Given the description of an element on the screen output the (x, y) to click on. 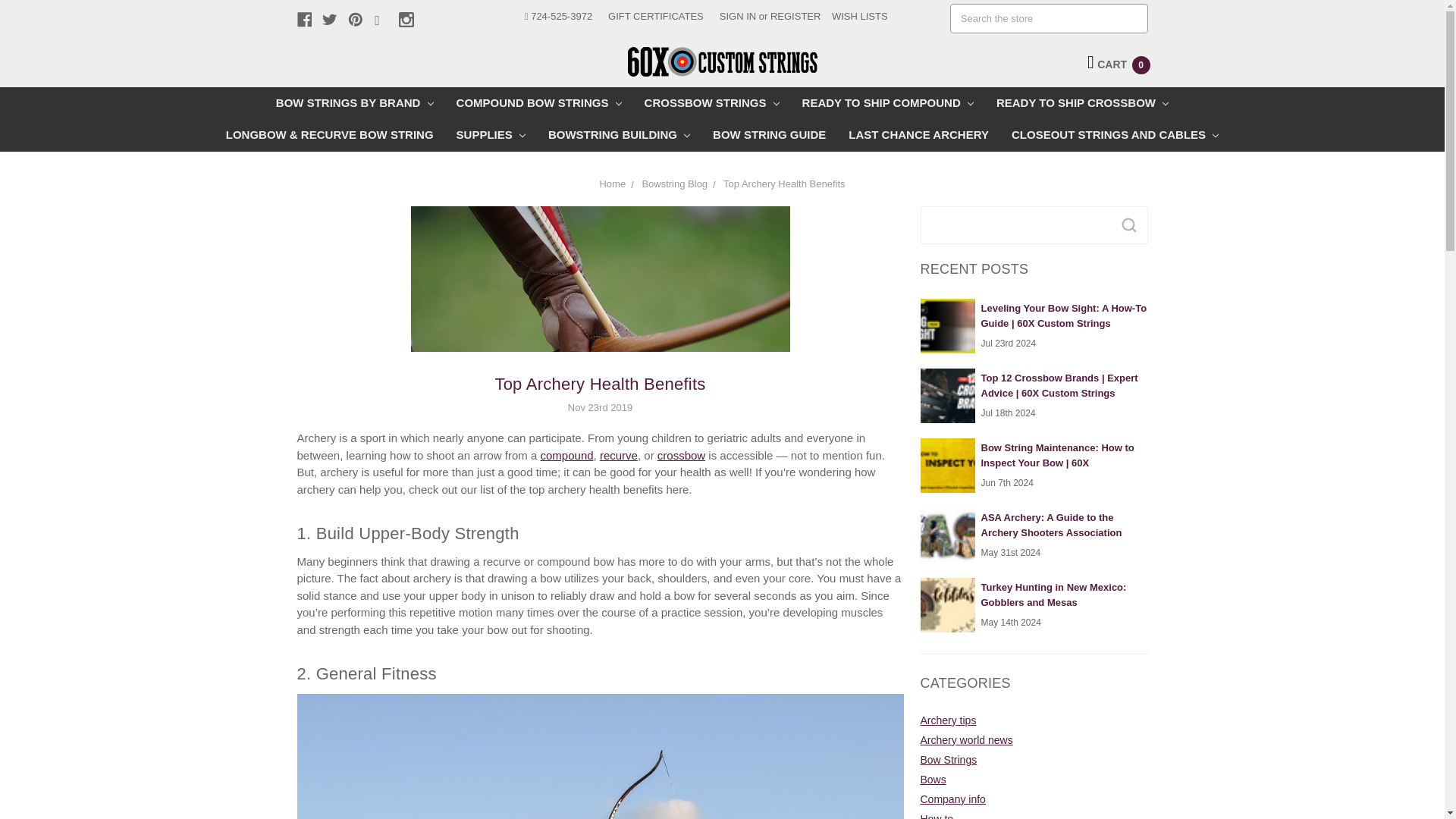
CART 0 (1118, 63)
724-525-3972 (557, 16)
60X Custom Strings (721, 61)
Search (1128, 225)
BOW STRINGS BY BRAND (354, 102)
REGISTER (795, 16)
ASA Archery: A Guide to the Archery Shooters Association (947, 534)
SIGN IN (736, 16)
Top Archery Health Benefits (600, 332)
GIFT CERTIFICATES (655, 16)
